Given the description of an element on the screen output the (x, y) to click on. 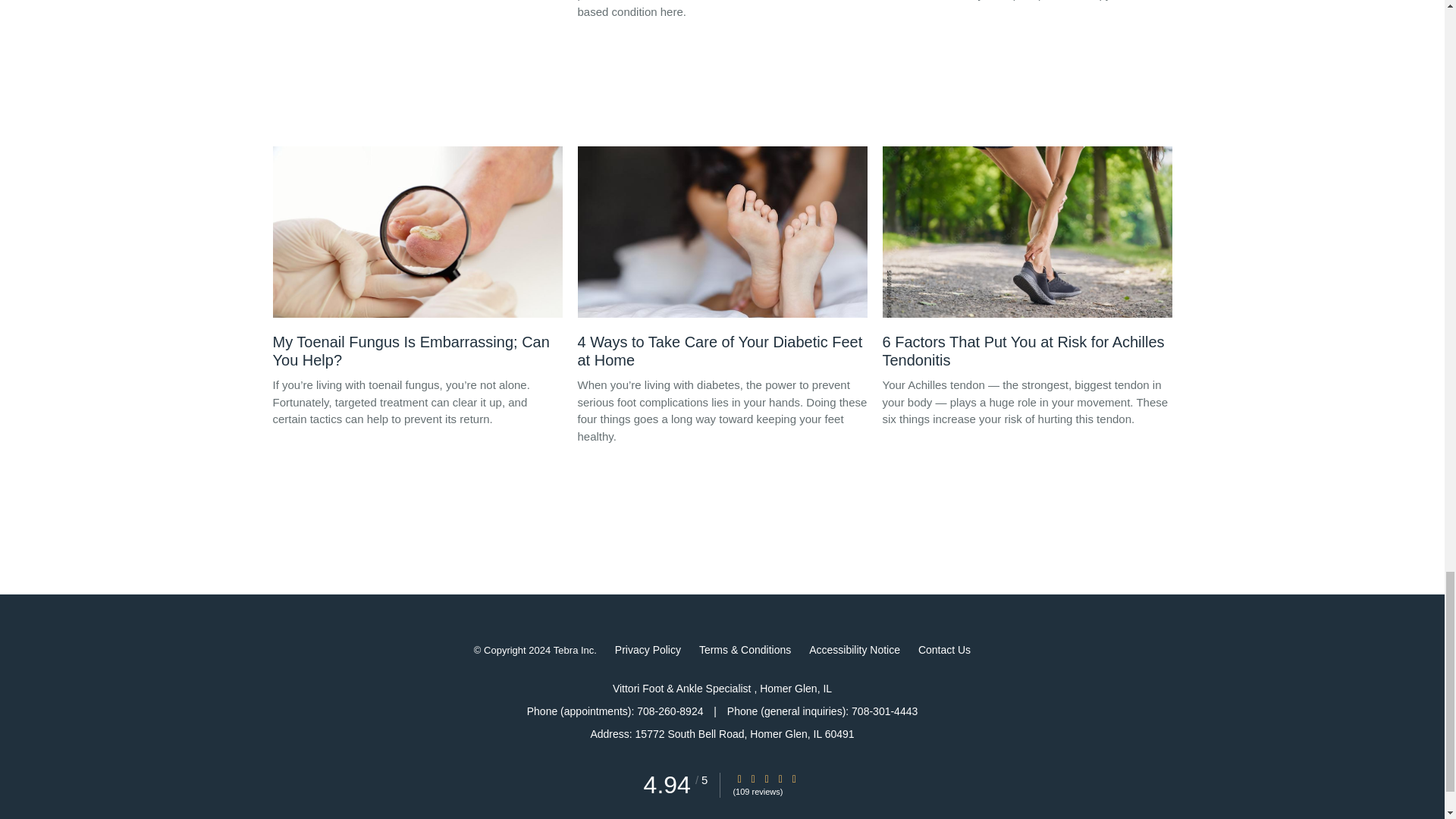
Star Rating (738, 778)
Star Rating (794, 778)
Star Rating (780, 778)
Star Rating (766, 778)
Star Rating (753, 778)
